Given the description of an element on the screen output the (x, y) to click on. 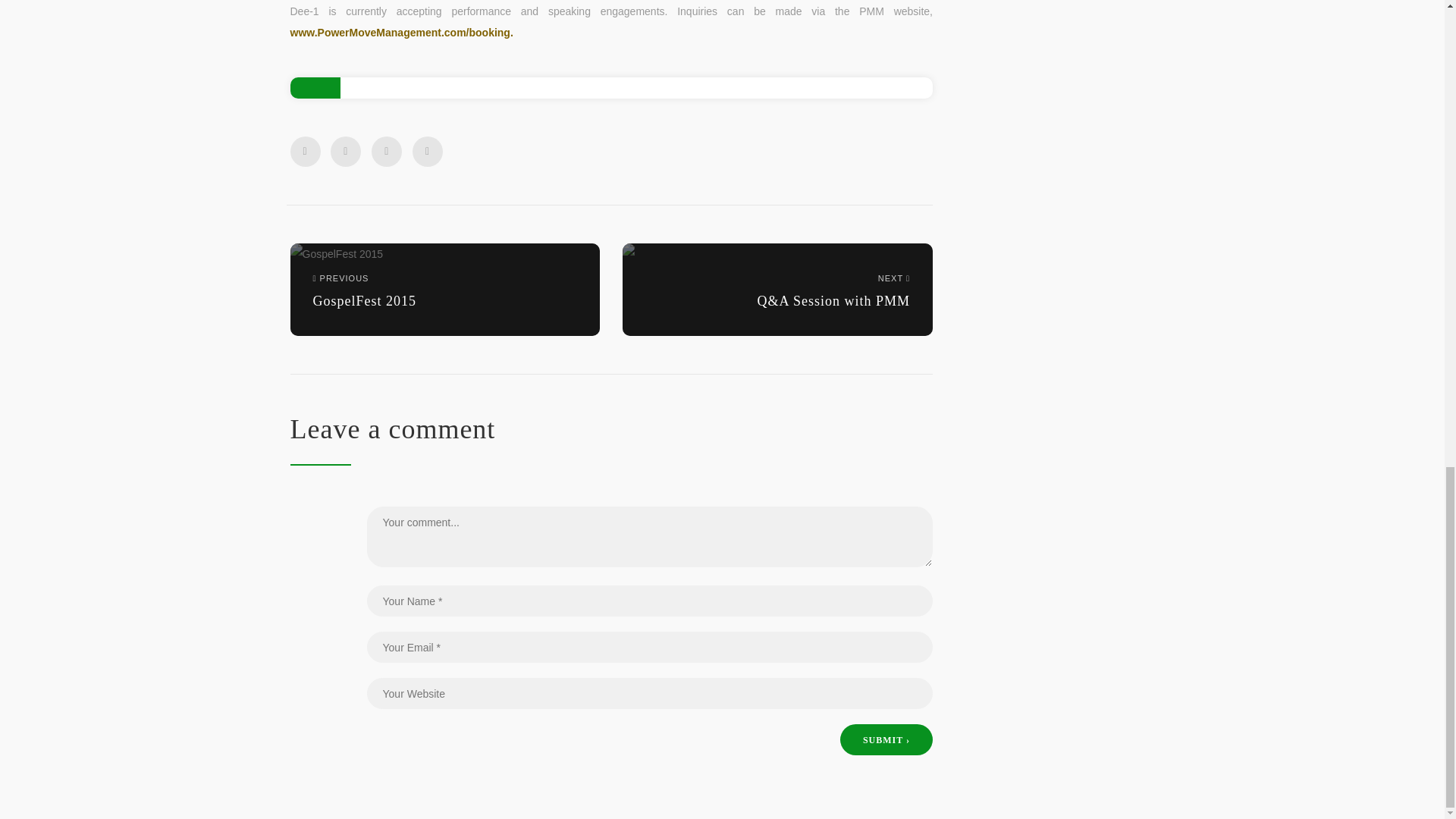
Share on Google Plus (386, 151)
Share on Facebook (304, 151)
Email this (427, 151)
Share on Twitter (444, 288)
